Given the description of an element on the screen output the (x, y) to click on. 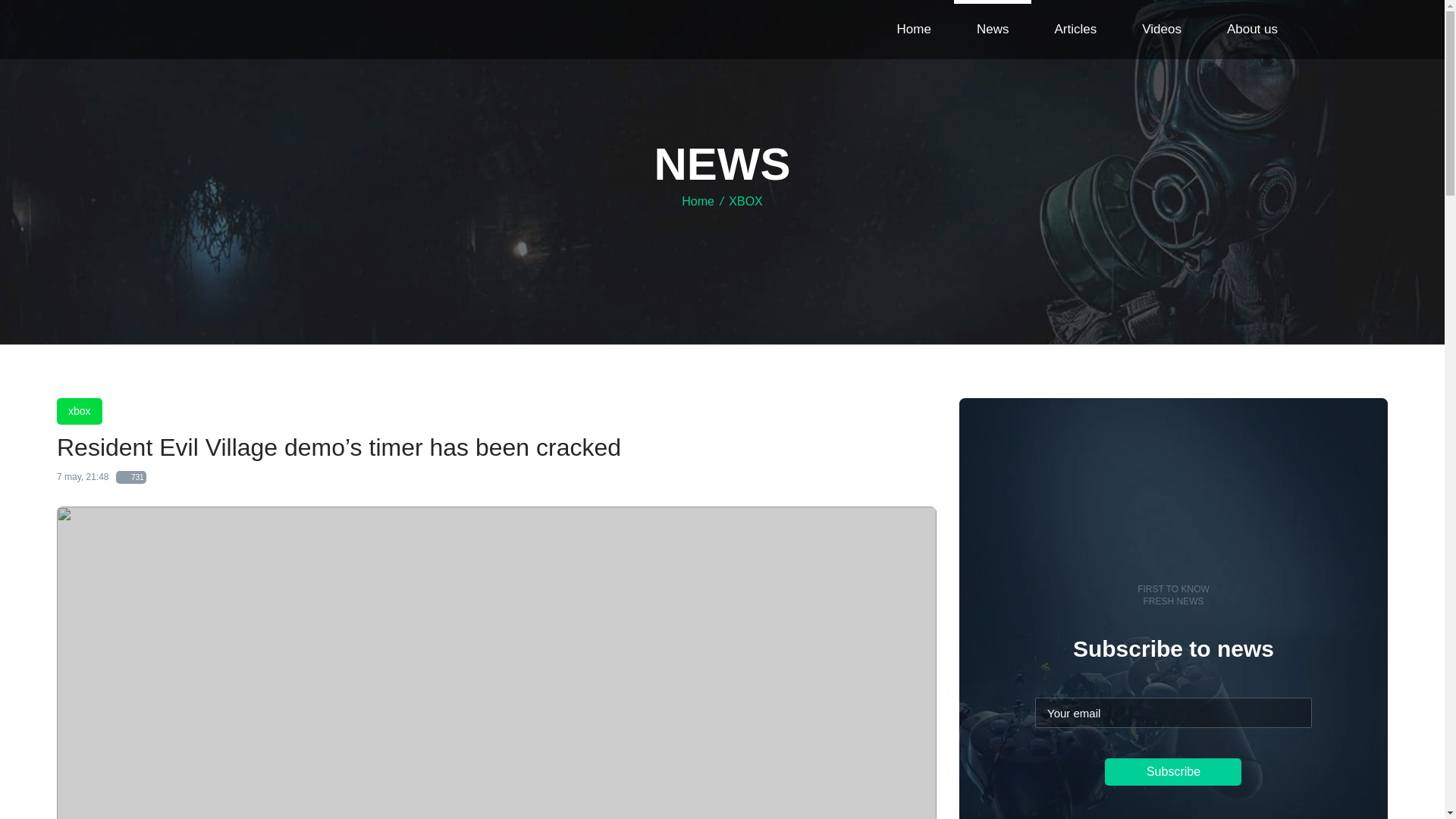
Subscribe (1173, 771)
Home (914, 29)
Articles (1074, 29)
xbox (78, 411)
Home (697, 201)
Subscribe (1173, 771)
News (992, 29)
About us (1252, 29)
Videos (1161, 29)
